Given the description of an element on the screen output the (x, y) to click on. 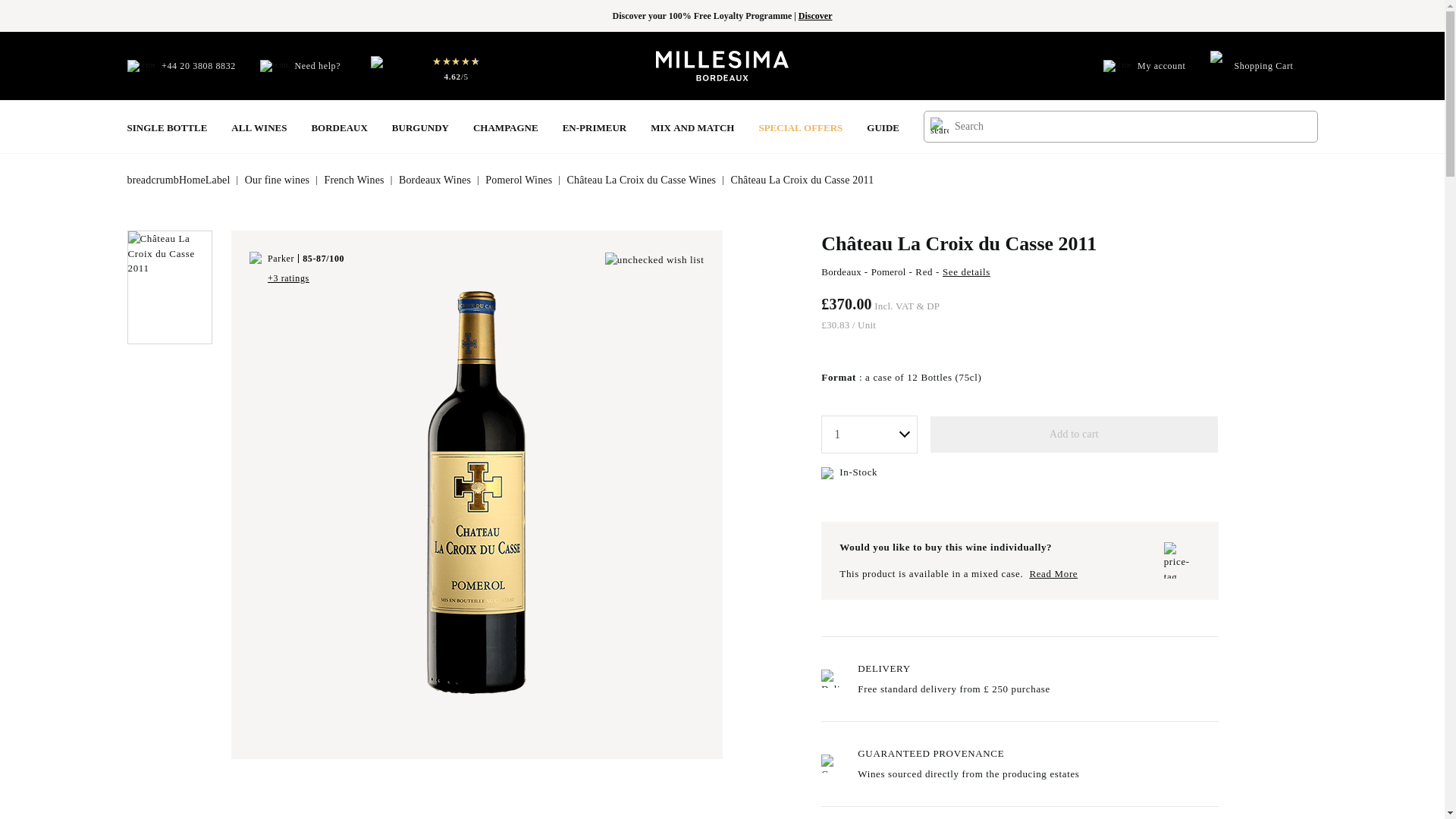
Single bottle (168, 125)
Mix and match (691, 125)
Special Offers (800, 125)
Champagne (505, 125)
Discover (814, 15)
All Wines (258, 125)
En-Primeur (594, 125)
Burgundy (419, 125)
Bordeaux (338, 125)
